Given the description of an element on the screen output the (x, y) to click on. 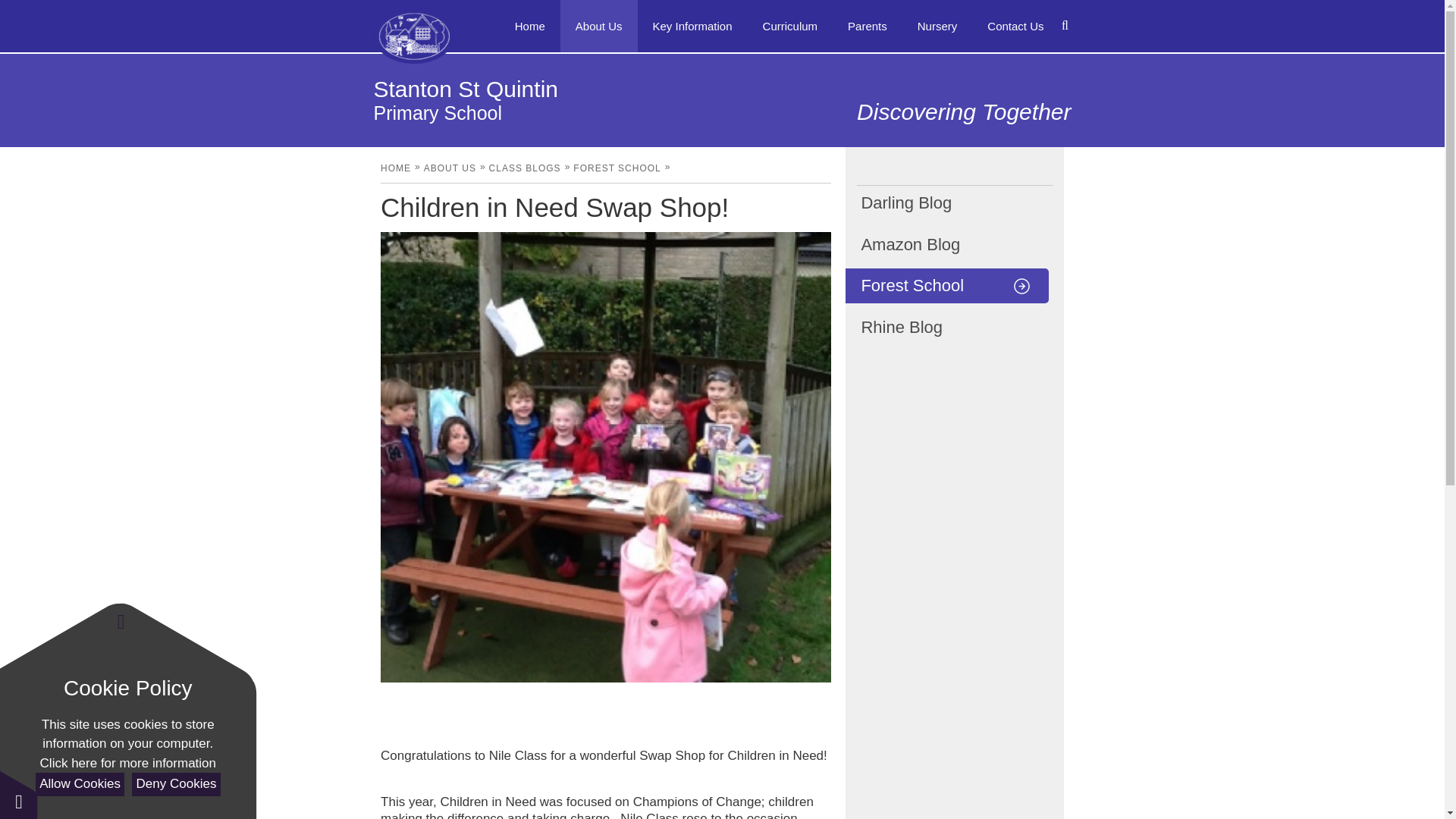
Contact Us (1015, 26)
Allow Cookies (78, 784)
Parents (867, 26)
Darling Blog (946, 202)
CLASS BLOGS (524, 167)
Allow Cookies (78, 784)
About Us (598, 26)
Rhine Blog (946, 327)
HOME (395, 167)
Curriculum (790, 26)
